Given the description of an element on the screen output the (x, y) to click on. 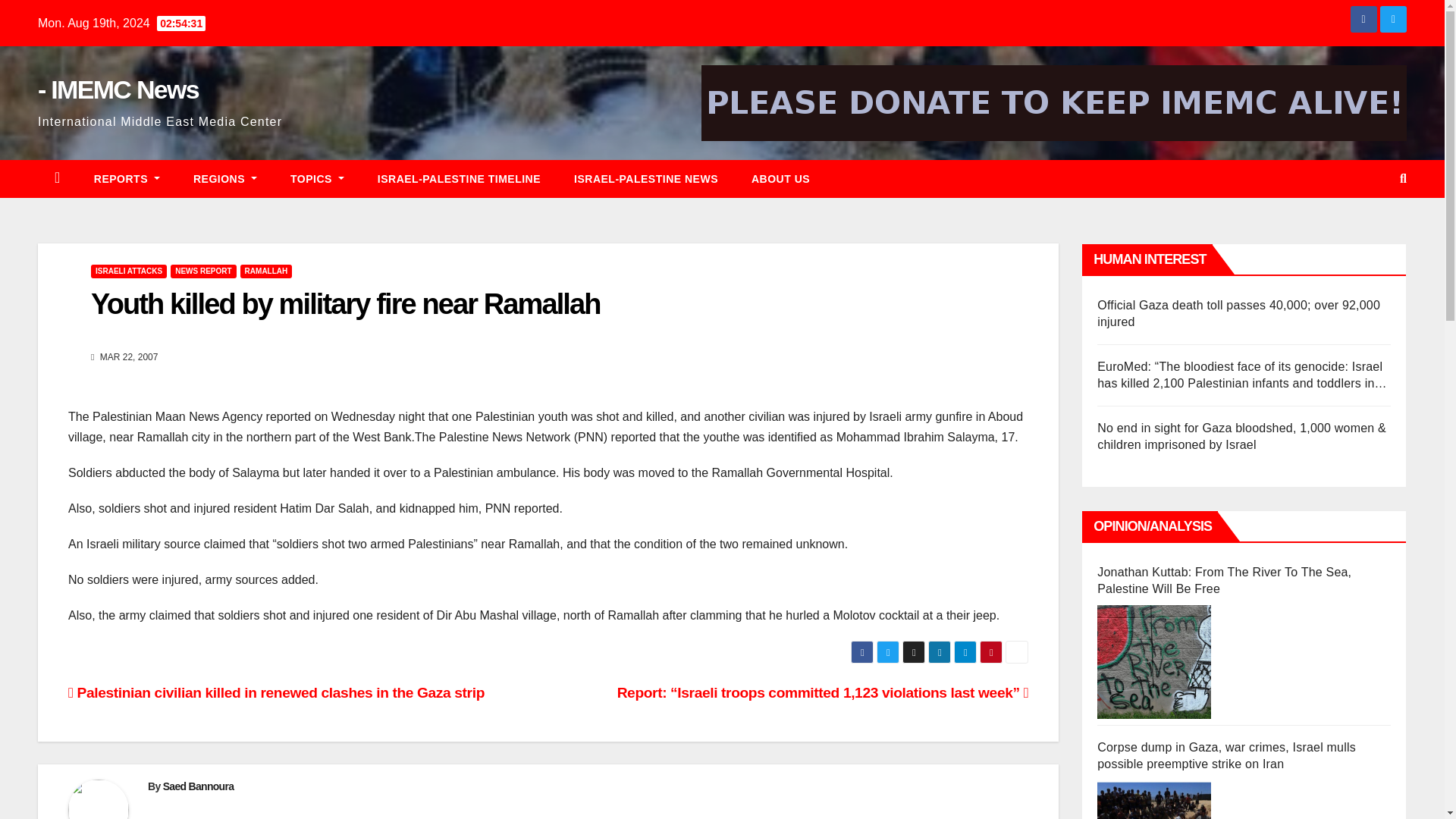
- IMEMC News (117, 89)
Reports (126, 178)
TOPICS (317, 178)
REGIONS (224, 178)
REPORTS (126, 178)
Regions (224, 178)
